Given the description of an element on the screen output the (x, y) to click on. 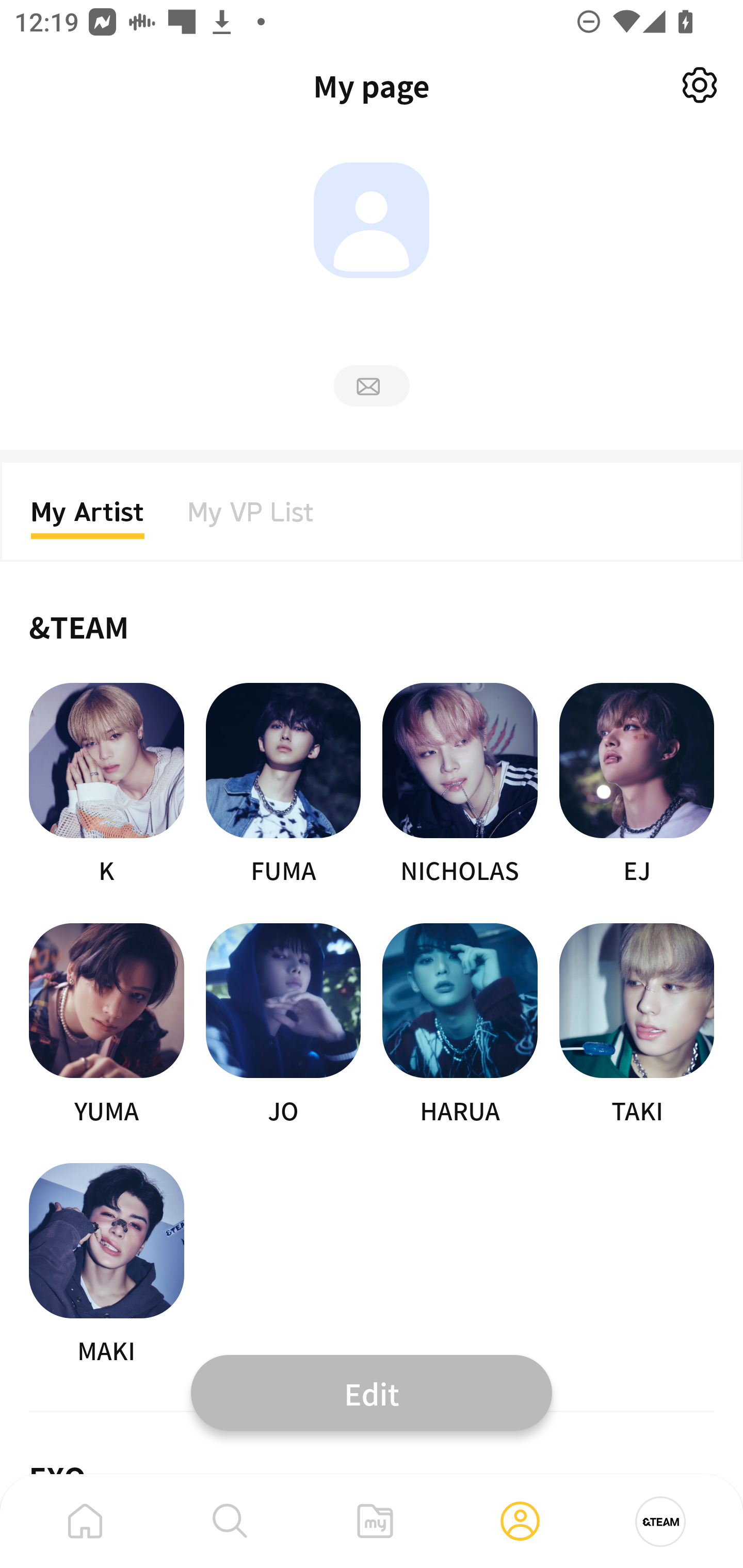
My Artist (87, 517)
My VP List (250, 517)
K (106, 785)
FUMA (282, 785)
NICHOLAS (459, 785)
EJ (636, 785)
YUMA (106, 1025)
JO (282, 1025)
HARUA (459, 1025)
TAKI (636, 1025)
MAKI (106, 1265)
Edit (371, 1392)
